Given the description of an element on the screen output the (x, y) to click on. 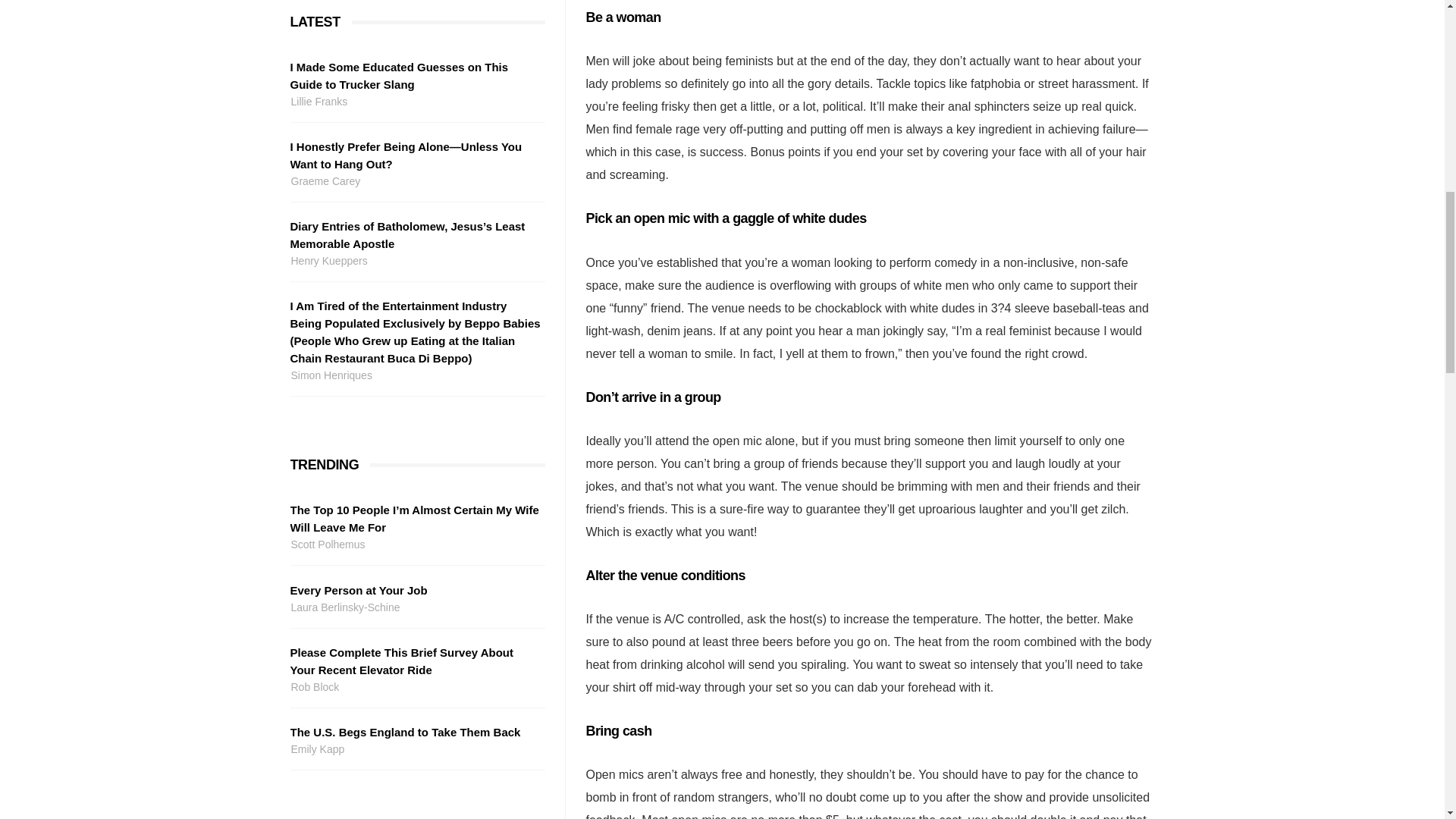
Graeme Carey (414, 181)
I Made Some Educated Guesses on This Guide to Trucker Slang (414, 75)
Simon Henriques (414, 375)
Rob Block (414, 687)
Every Person at Your Job (414, 589)
Henry Kueppers (414, 261)
Lillie Franks (414, 101)
Laura Berlinsky-Schine (414, 607)
Scott Polhemus (414, 544)
